Given the description of an element on the screen output the (x, y) to click on. 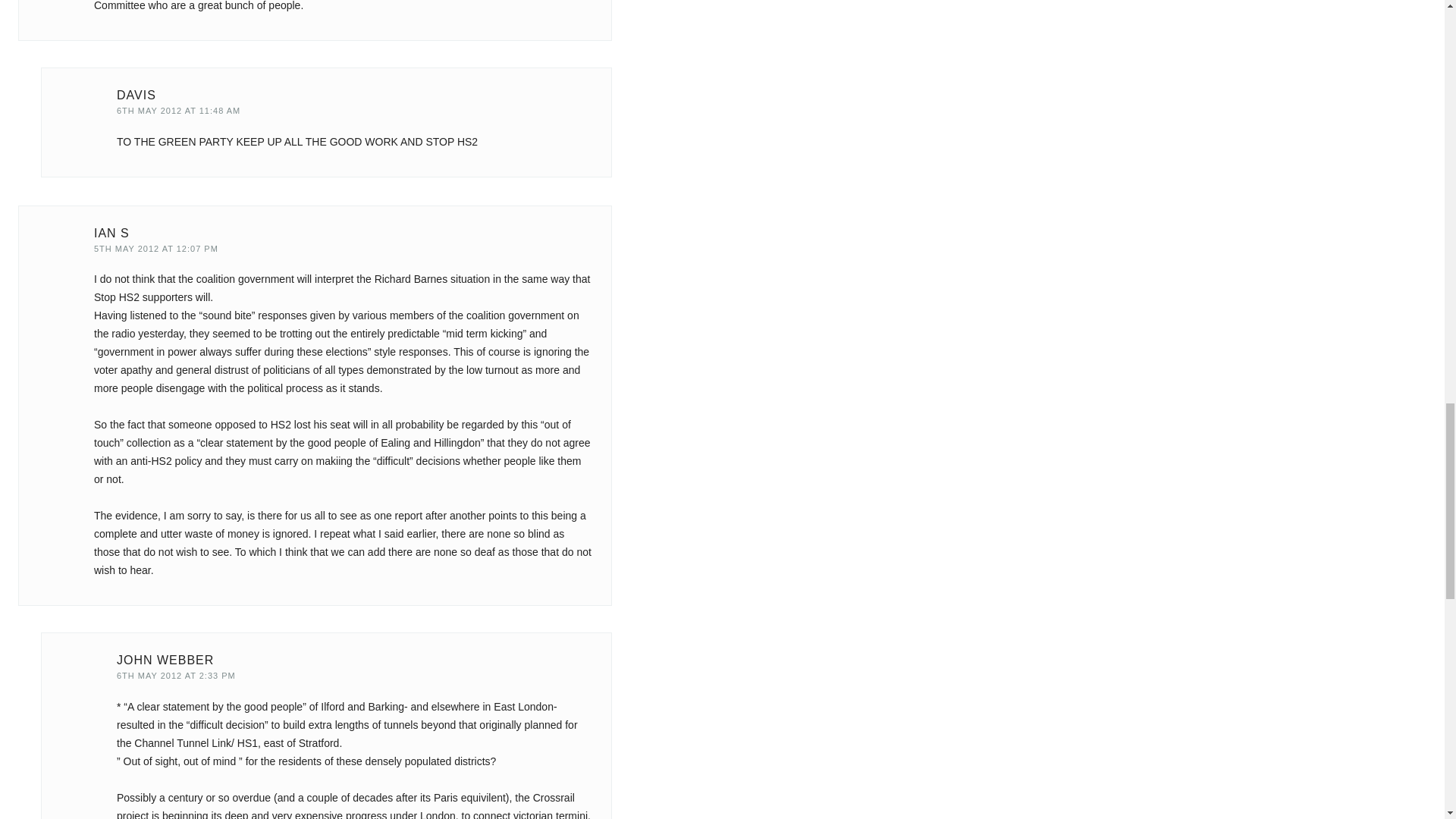
5TH MAY 2012 AT 12:07 PM (156, 248)
6TH MAY 2012 AT 2:33 PM (175, 675)
6TH MAY 2012 AT 11:48 AM (178, 110)
